Given the description of an element on the screen output the (x, y) to click on. 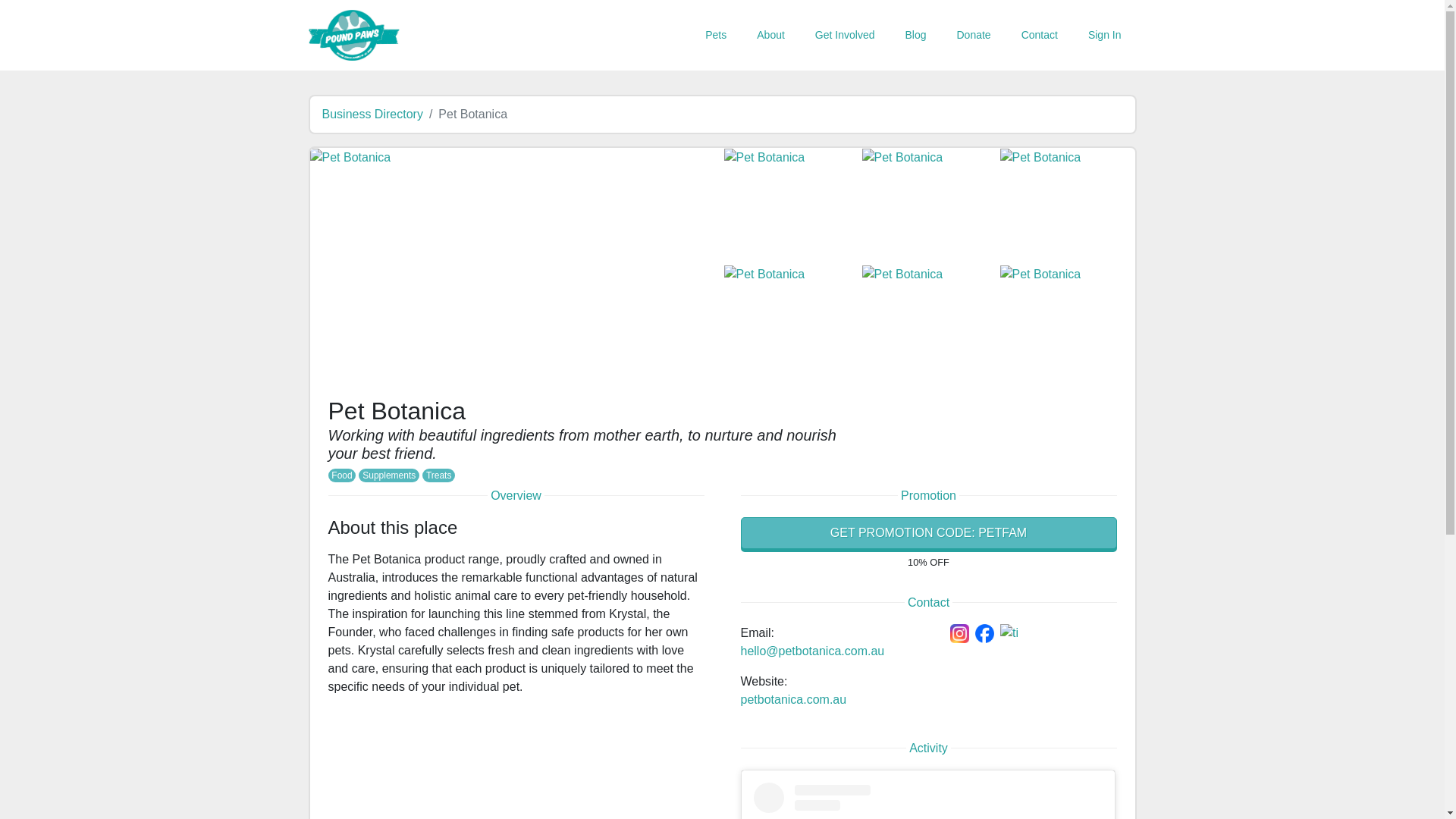
Donate (973, 35)
Pets (715, 35)
Blog (914, 35)
Contact (1039, 35)
Pets (715, 35)
View this post on Instagram (928, 800)
About (770, 35)
Contact (1039, 35)
Business Directory (371, 113)
Sign In (1104, 35)
Donate (973, 35)
Get Involved (844, 35)
petbotanica.com.au (792, 698)
Get Involved (844, 35)
About (770, 35)
